Given the description of an element on the screen output the (x, y) to click on. 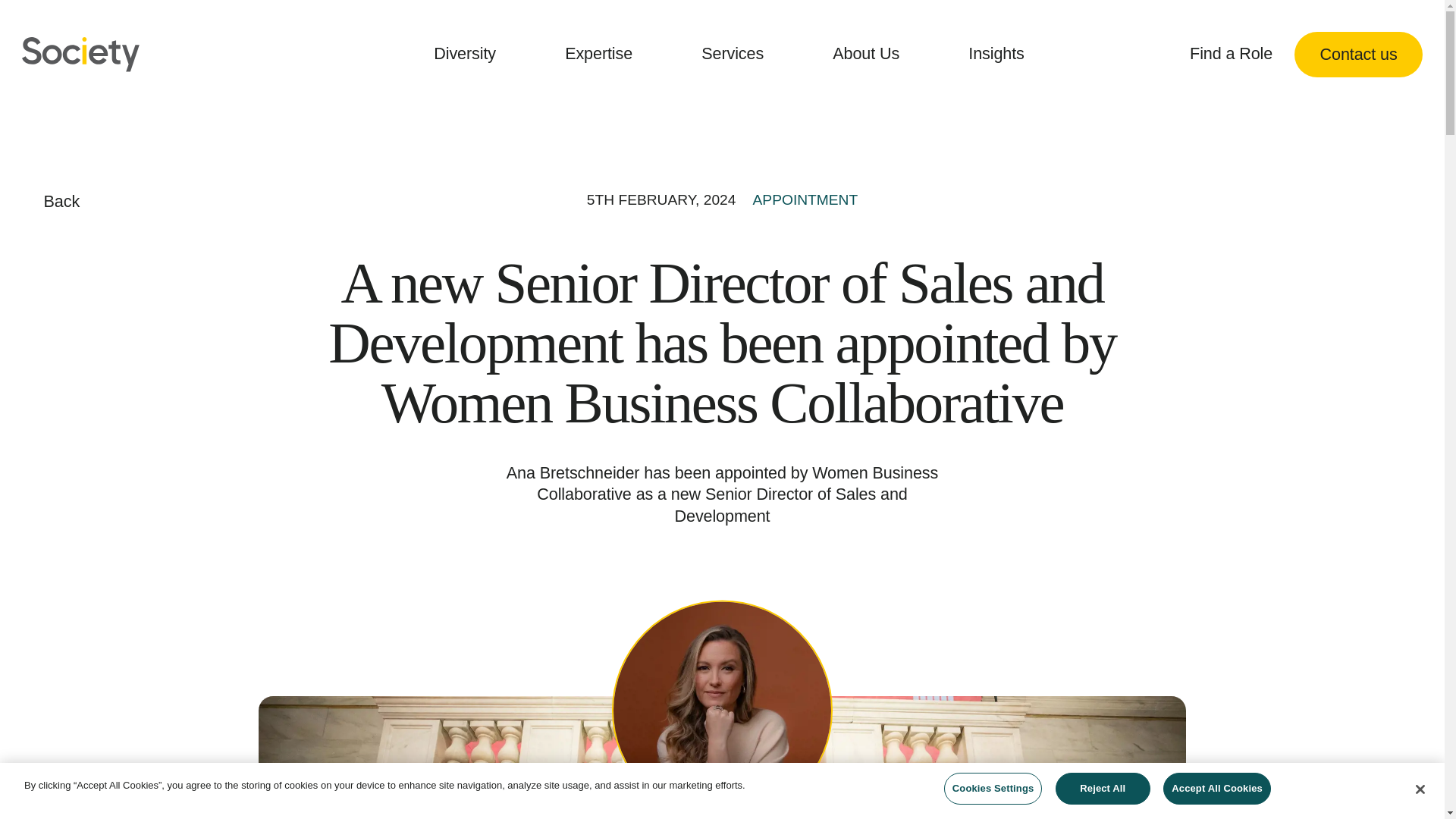
Services (737, 54)
Expertise (603, 54)
Diversity (469, 54)
Contact us (1358, 53)
Society (80, 54)
Find a Role (1230, 54)
About Us (871, 54)
Insights (1001, 54)
